Given the description of an element on the screen output the (x, y) to click on. 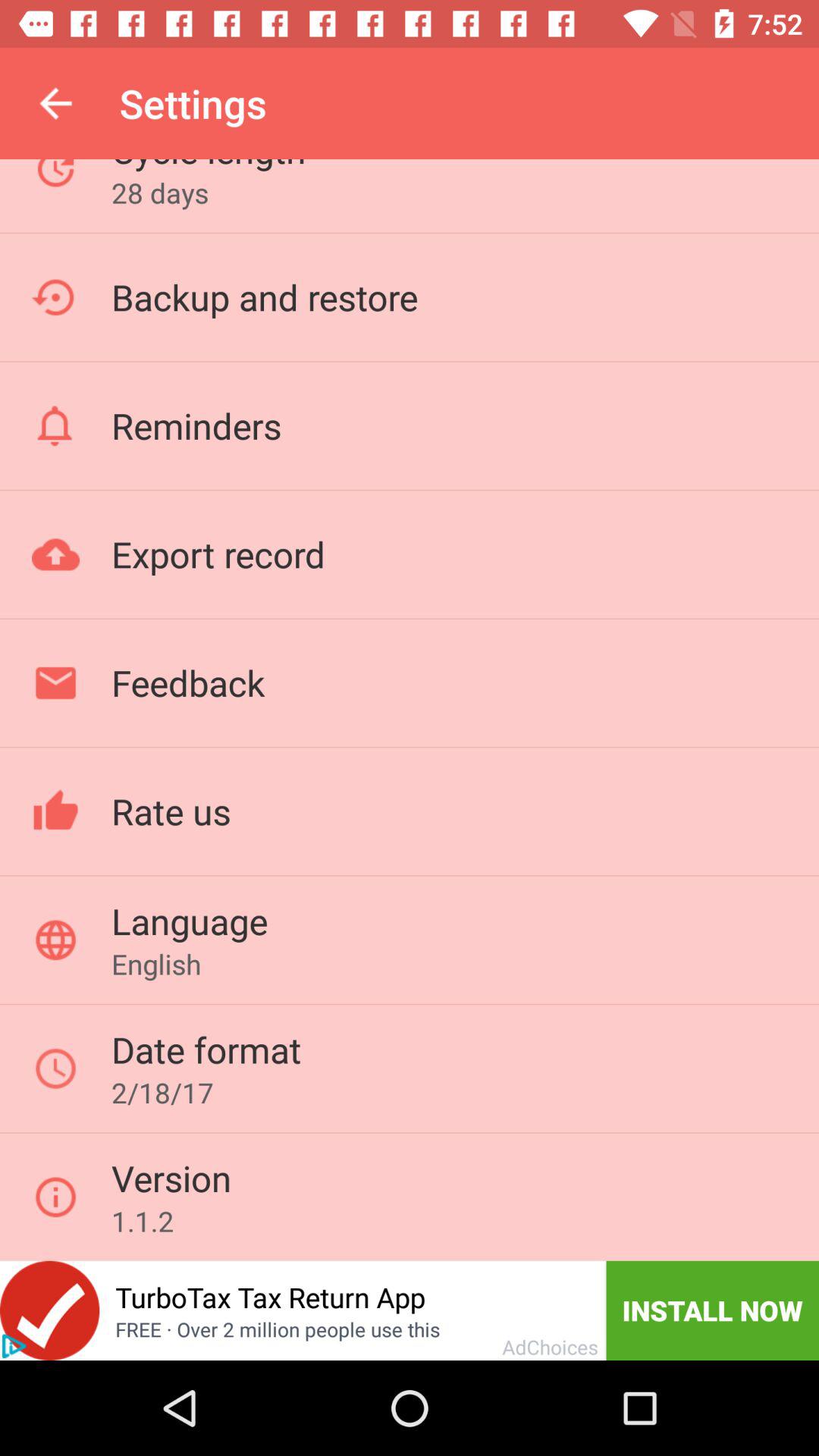
flip to the cycle length (208, 166)
